Given the description of an element on the screen output the (x, y) to click on. 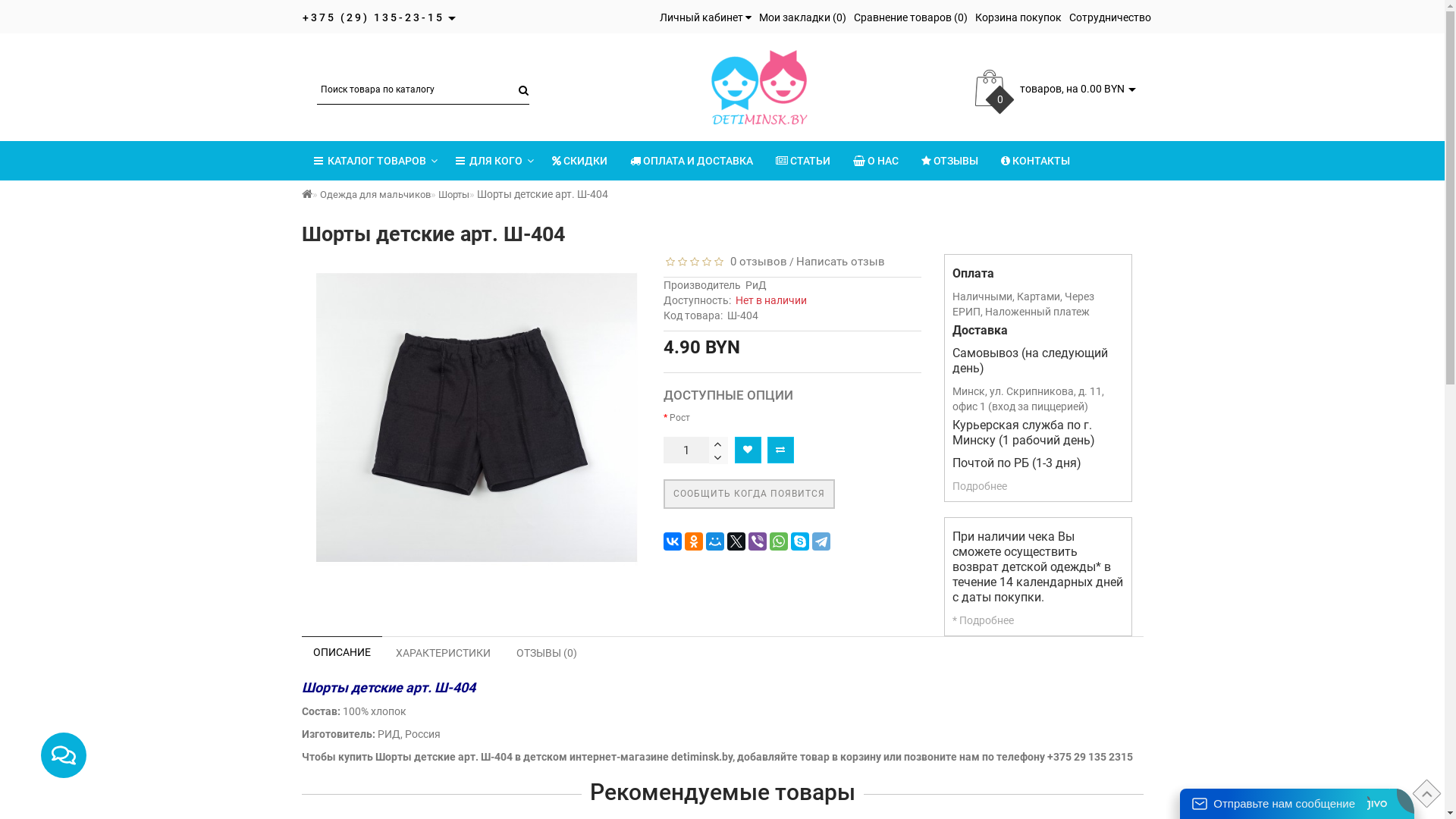
  Element type: text (718, 457)
Skype Element type: hover (799, 541)
WhatsApp Element type: hover (778, 541)
cart Element type: hover (989, 87)
Telegram Element type: hover (821, 541)
Twitter Element type: hover (736, 541)
Viber Element type: hover (757, 541)
  Element type: text (718, 443)
